Given the description of an element on the screen output the (x, y) to click on. 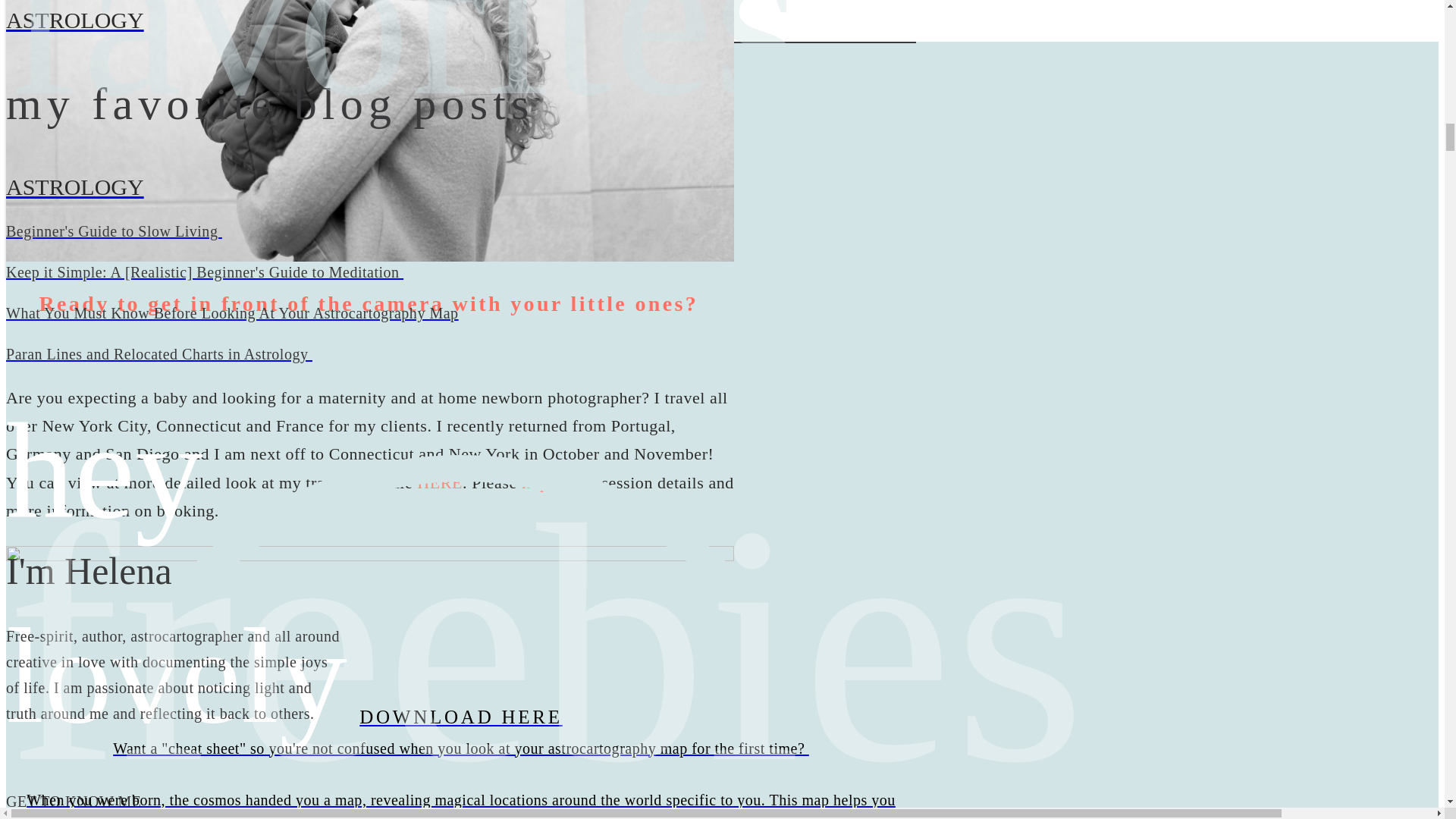
ASTROLOGY (460, 19)
inquire (546, 482)
HERE (439, 482)
